Given the description of an element on the screen output the (x, y) to click on. 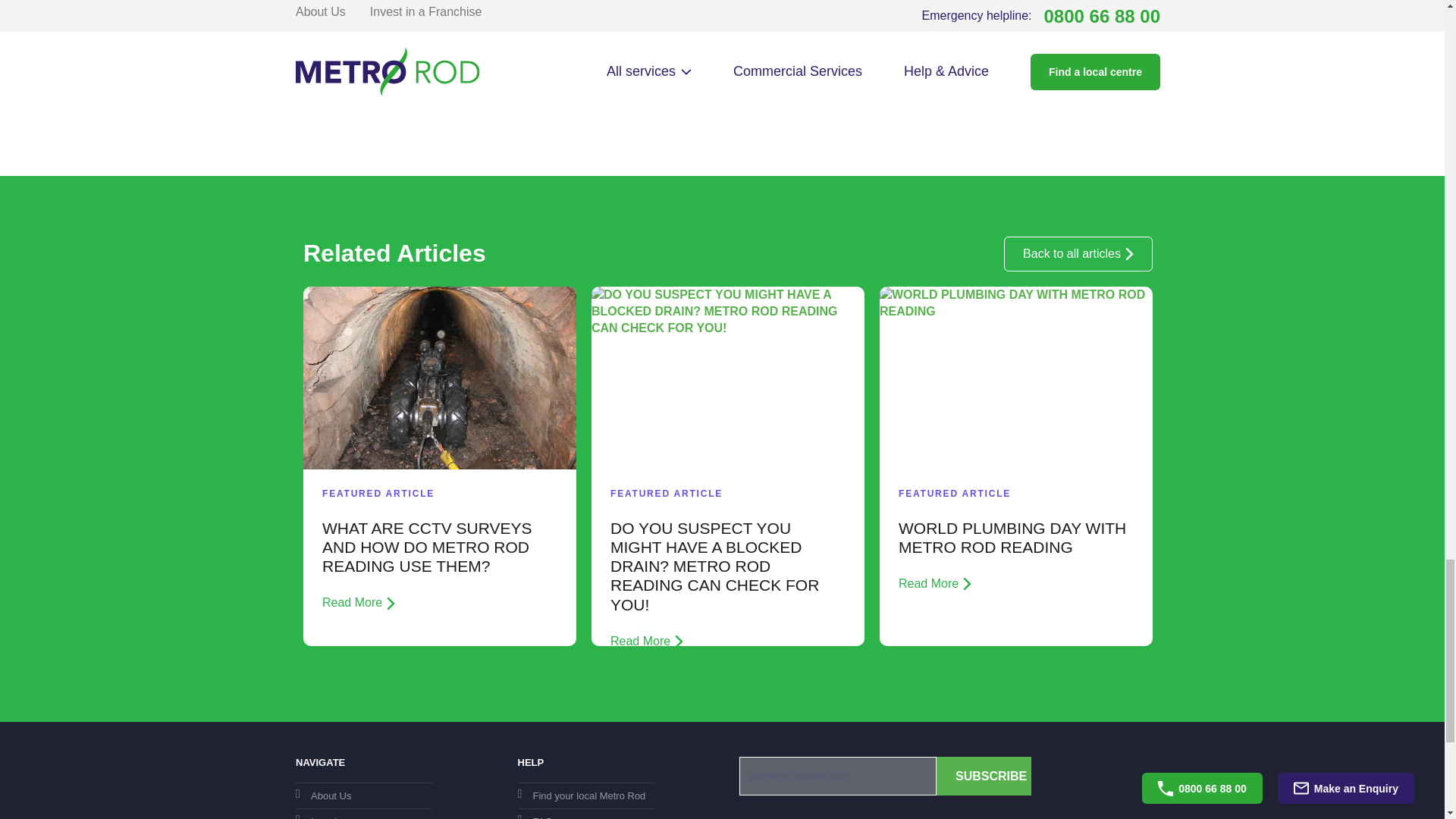
SUBSCRIBE (983, 775)
